Given the description of an element on the screen output the (x, y) to click on. 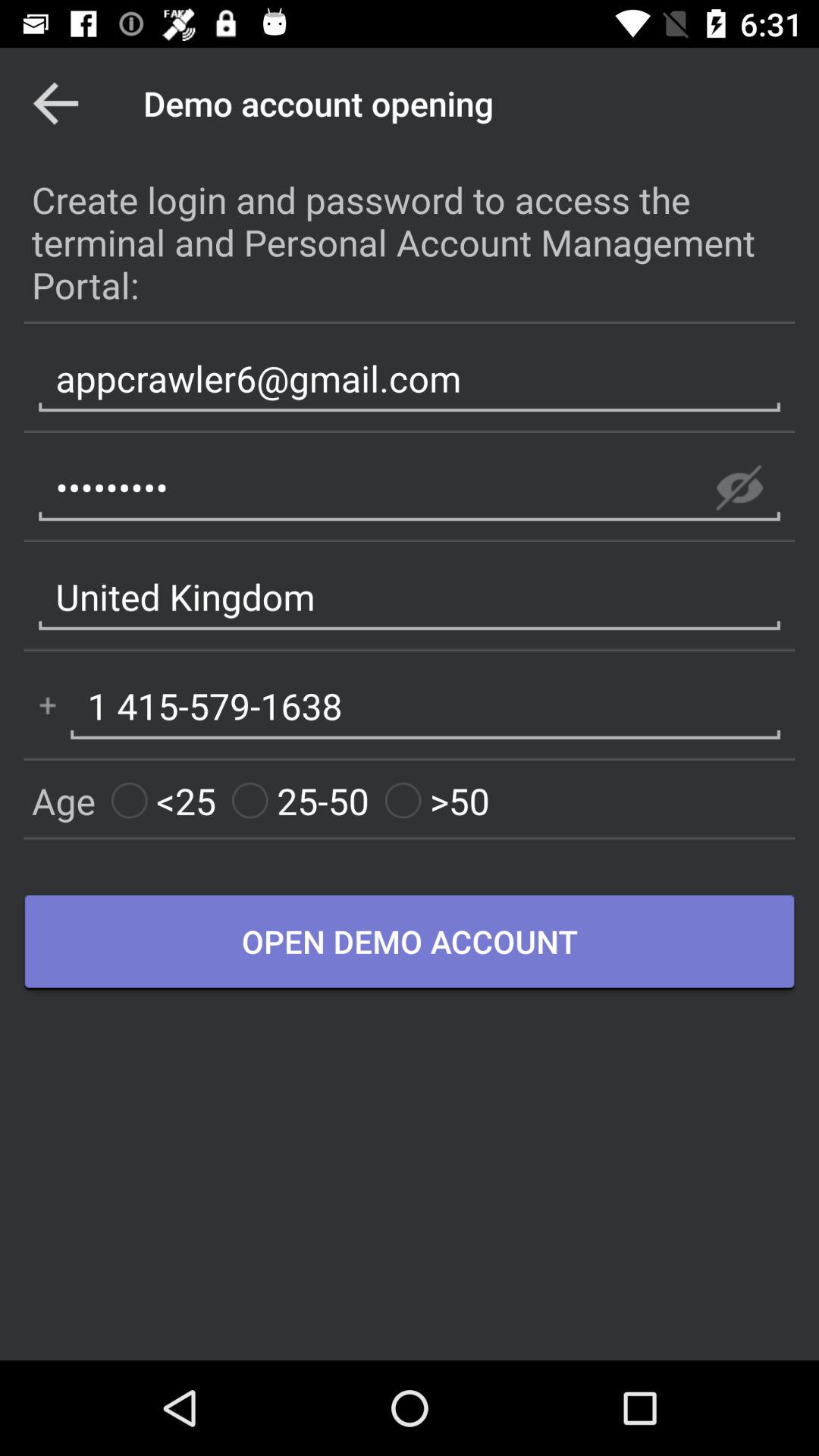
click item above the crowd3116 item (409, 378)
